Given the description of an element on the screen output the (x, y) to click on. 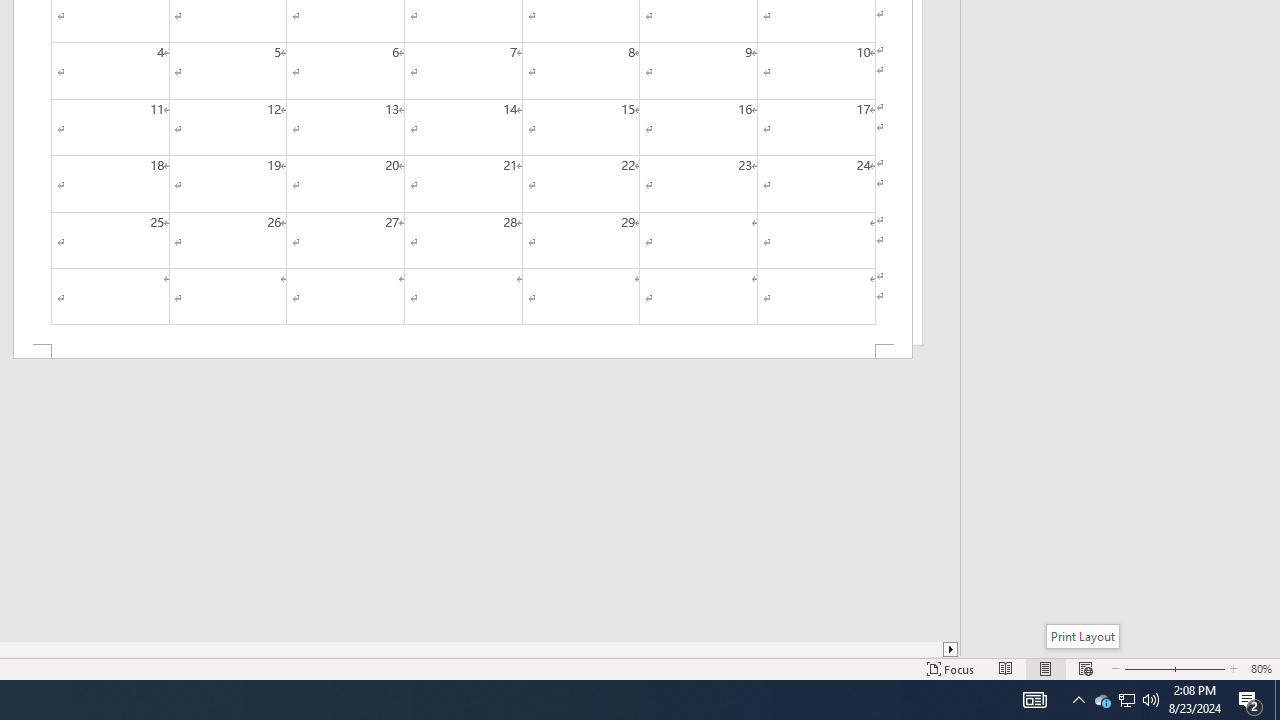
Read Mode (1005, 668)
Zoom In (1195, 668)
Zoom Out (1143, 668)
Print Layout (1082, 636)
Column right (951, 649)
Print Layout (1046, 668)
Footer -Section 2- (462, 351)
Web Layout (1085, 668)
Focus  (951, 668)
